Given the description of an element on the screen output the (x, y) to click on. 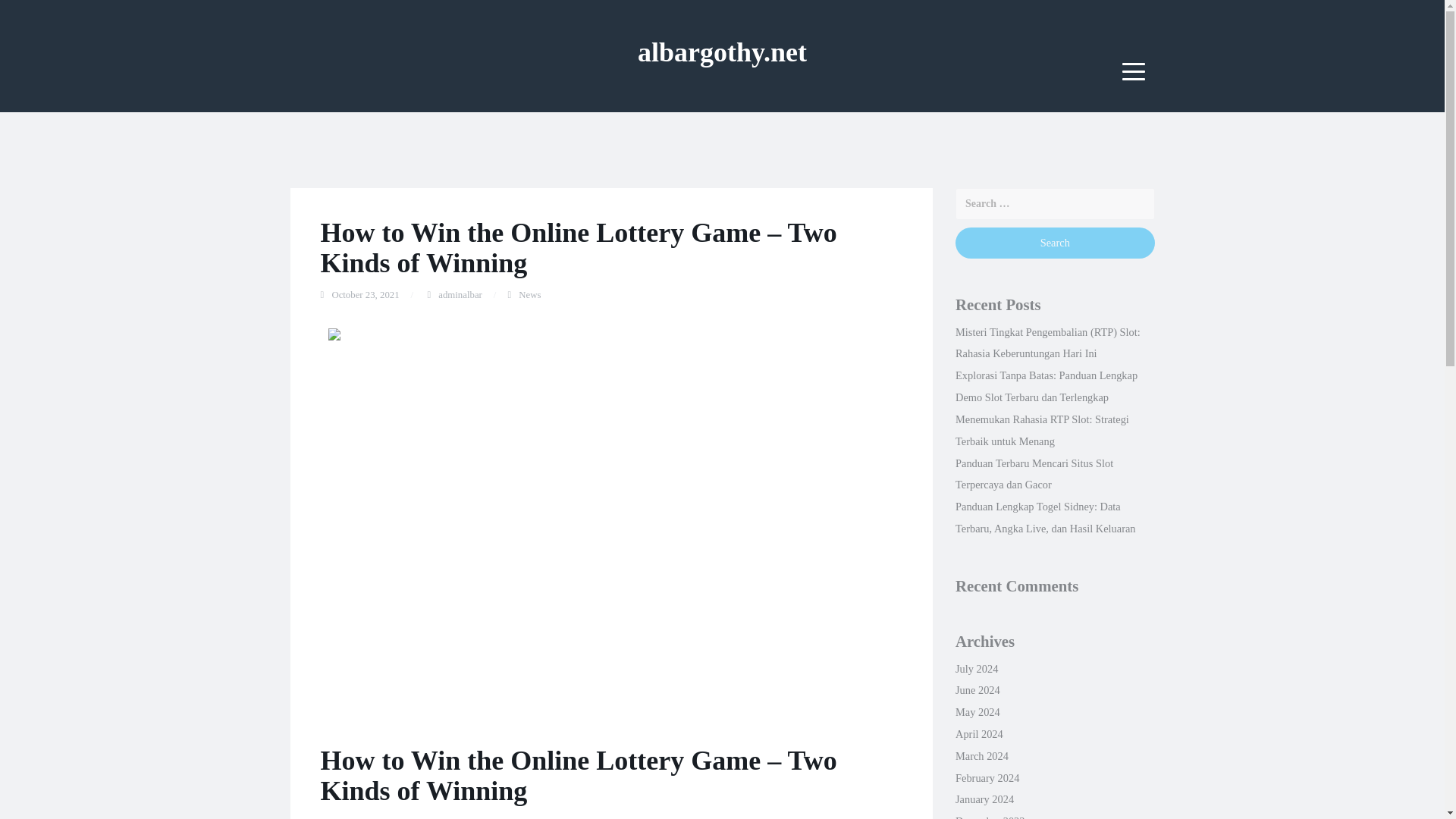
April 2024 (979, 734)
May 2024 (977, 711)
March 2024 (982, 756)
July 2024 (976, 668)
Search (1054, 242)
albargothy.net (721, 51)
February 2024 (987, 777)
October 23, 2021 (364, 294)
Search (1054, 242)
Search (1054, 242)
adminalbar (459, 294)
Panduan Terbaru Mencari Situs Slot Terpercaya dan Gacor (1034, 474)
June 2024 (977, 689)
Menu (1133, 71)
